Given the description of an element on the screen output the (x, y) to click on. 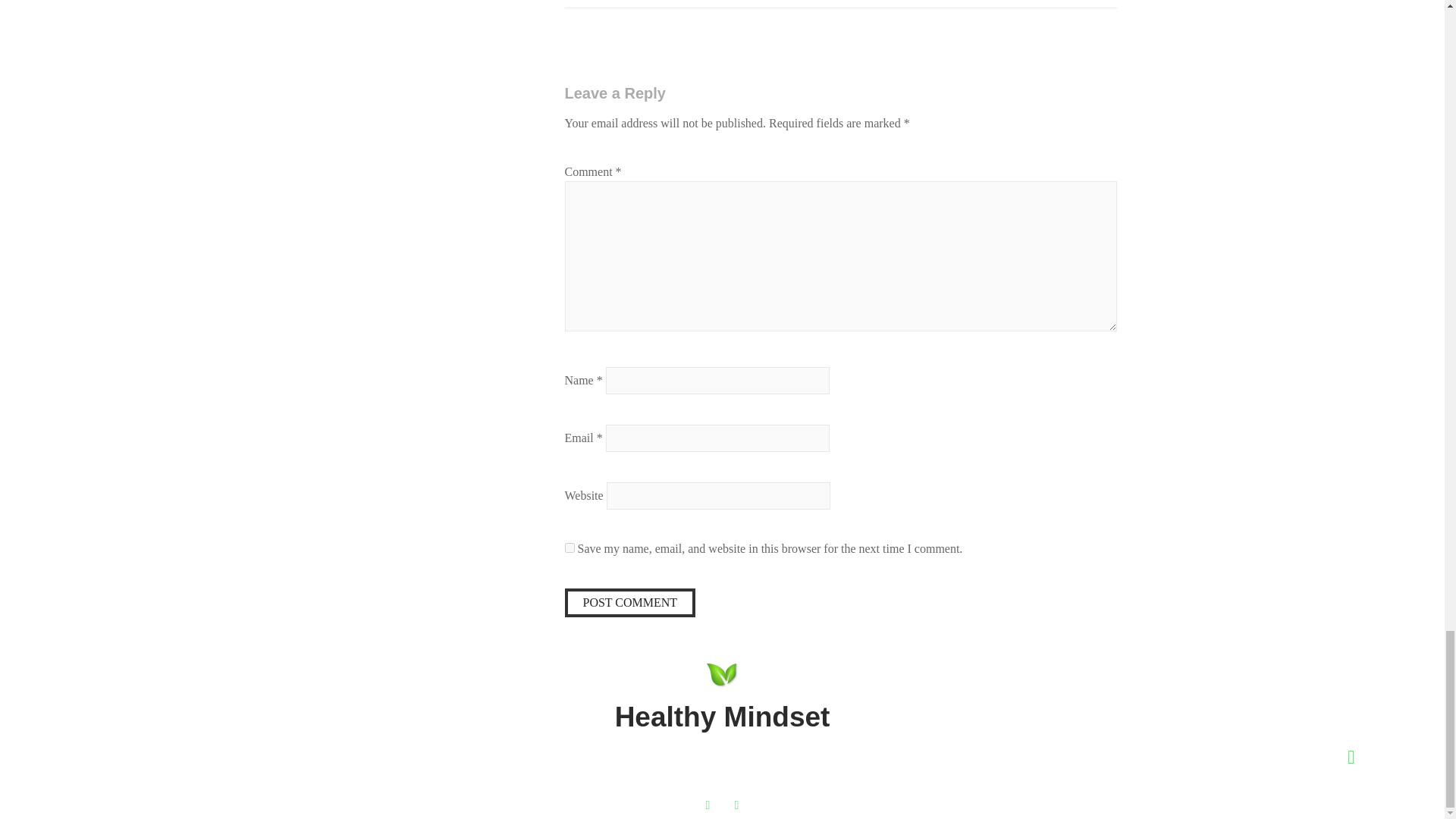
Post Comment (629, 602)
yes (568, 547)
Post Comment (629, 602)
